Given the description of an element on the screen output the (x, y) to click on. 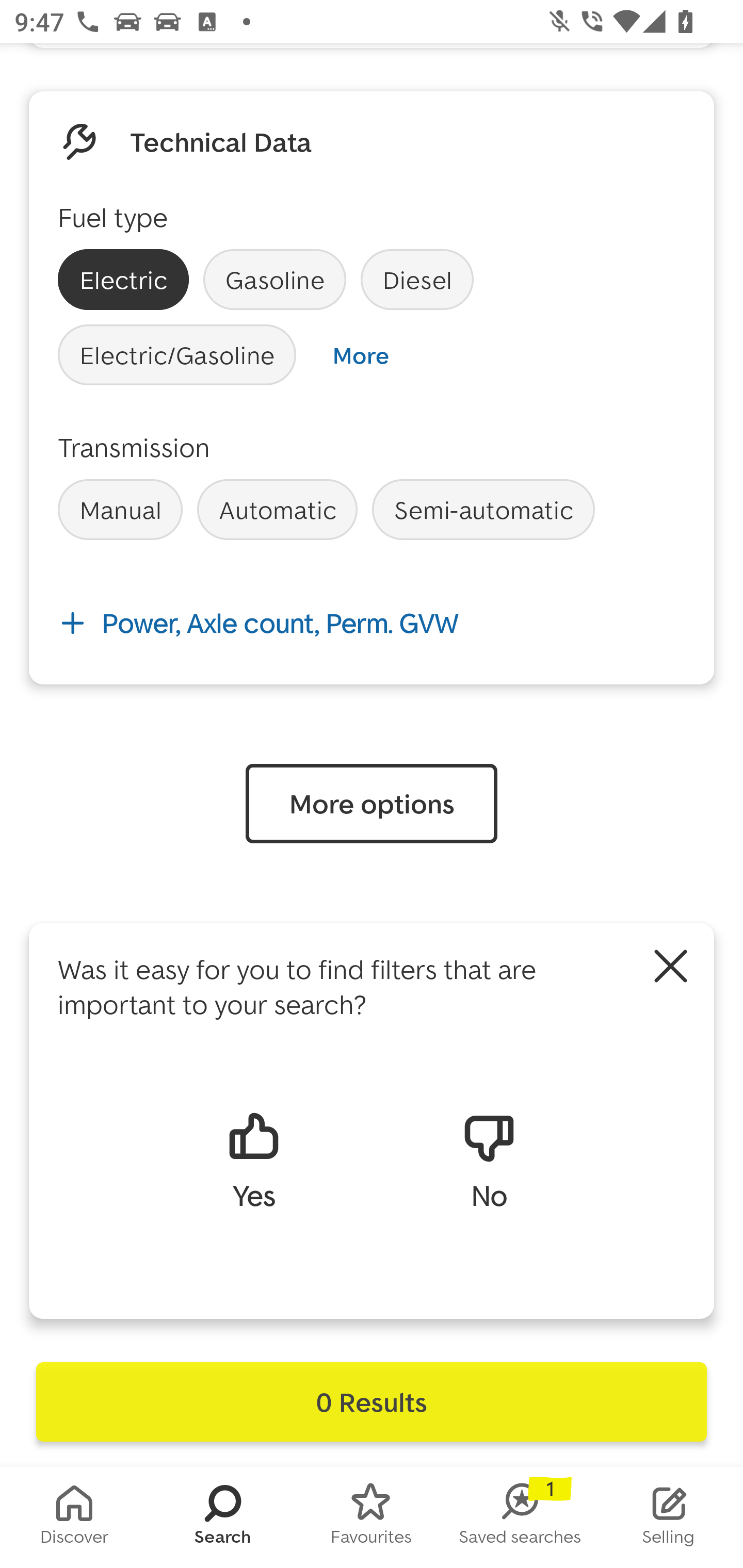
Technical Data (221, 141)
Fuel type (112, 217)
Electric (122, 279)
Gasoline (274, 279)
Diesel (417, 279)
Electric/Gasoline (176, 354)
More (360, 354)
Transmission (133, 446)
Manual (119, 509)
Automatic (276, 509)
Semi-automatic (483, 509)
Power, Axle count, Perm. GVW (371, 623)
More options (371, 803)
Yes (253, 1159)
No (489, 1159)
0 Results (371, 1401)
HOMESCREEN Discover (74, 1517)
SEARCH Search (222, 1517)
FAVORITES Favourites (371, 1517)
SAVED_SEARCHES Saved searches 1 (519, 1517)
STOCK_LIST Selling (668, 1517)
